Given the description of an element on the screen output the (x, y) to click on. 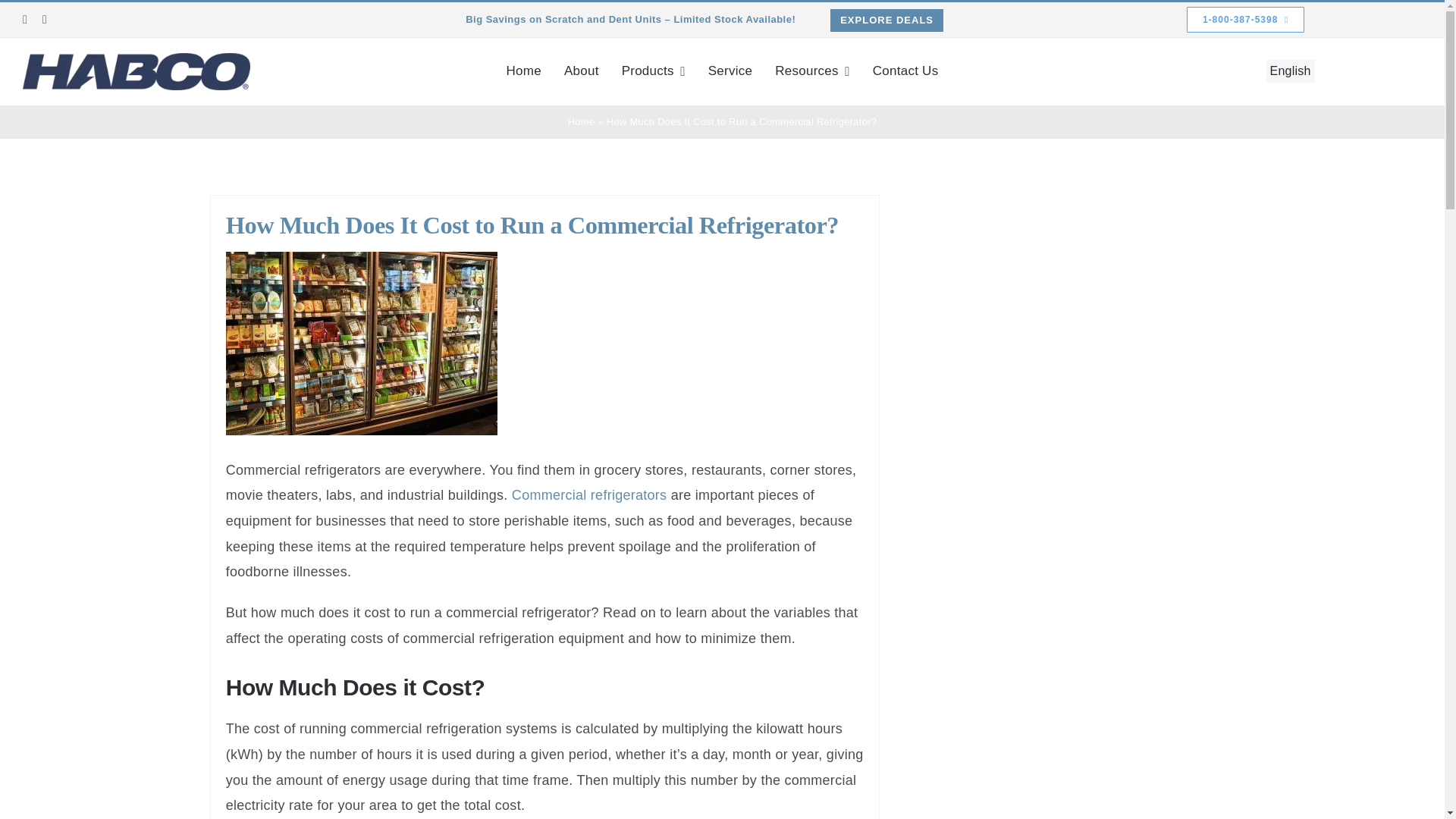
Contact Us (905, 71)
Products (653, 71)
EXPLORE DEALS (886, 20)
English (1290, 70)
Commercial refrigerators (589, 494)
English (1290, 70)
Resources (812, 71)
1-800-387-5398 (1245, 19)
Home (581, 121)
